Given the description of an element on the screen output the (x, y) to click on. 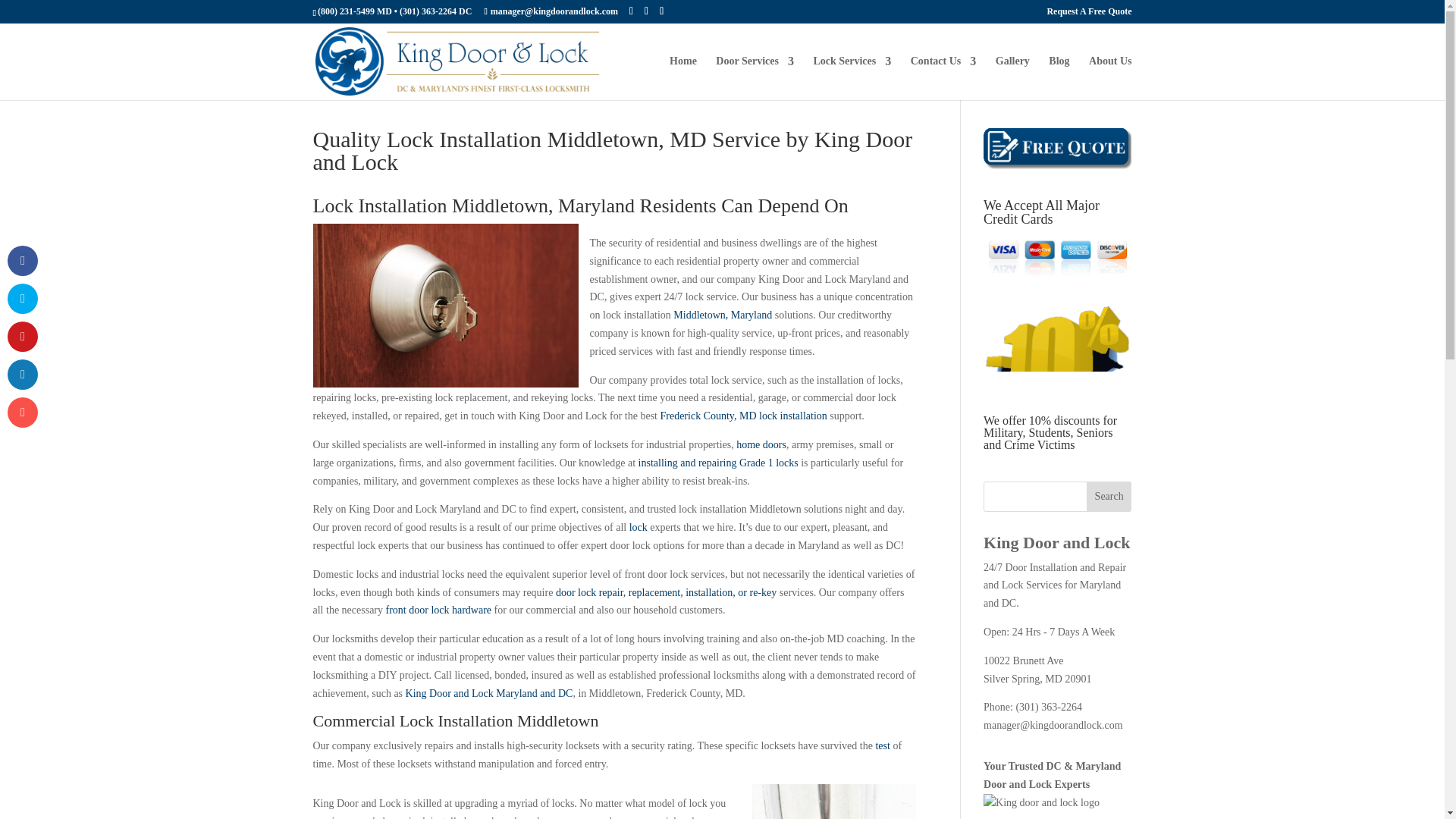
Door Services (754, 77)
Door Locks (665, 592)
King Door and Lock Maryland and DC (489, 693)
Door Lock Sets (438, 609)
Middletown, Maryland (721, 315)
Lock Installation in Frederick County, MD (743, 415)
Search (1109, 496)
Request A Free Quote (1088, 14)
Lock Services (851, 77)
High Security Lock Installation and Repair (718, 462)
